Given the description of an element on the screen output the (x, y) to click on. 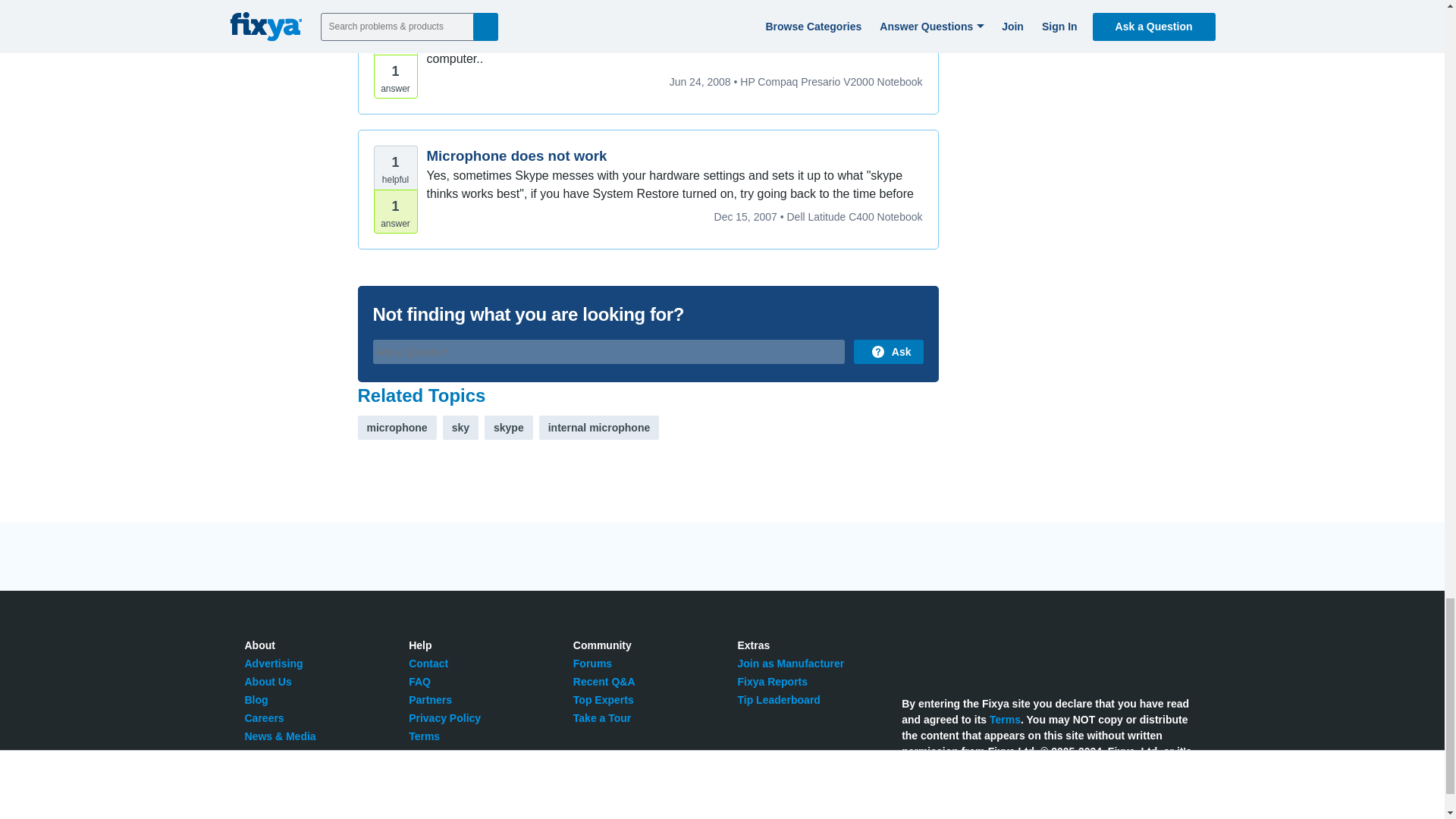
Ask (888, 351)
